Given the description of an element on the screen output the (x, y) to click on. 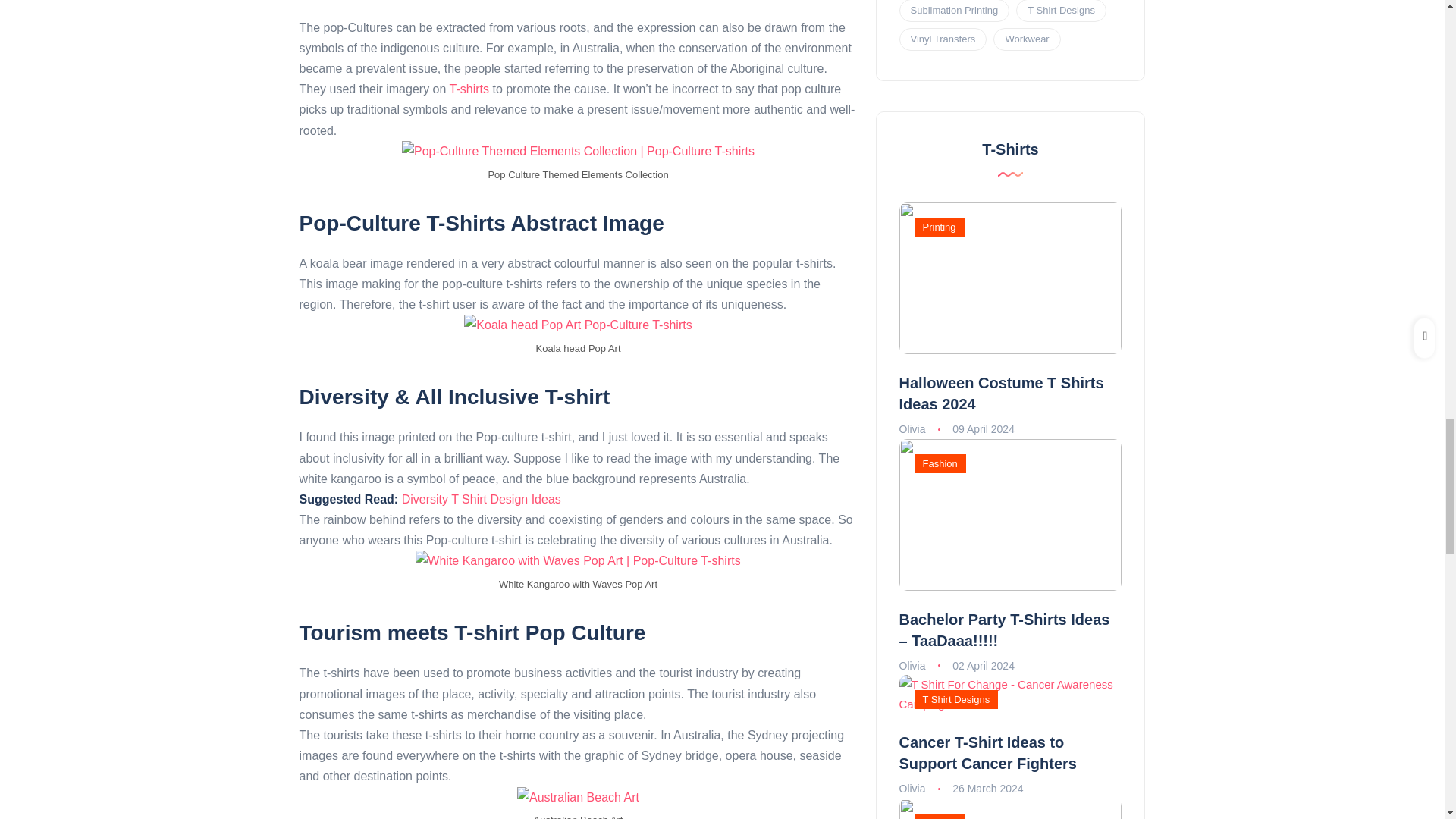
Posts by Olivia (912, 428)
Posts by Olivia (912, 665)
Posts by Olivia (912, 788)
